Given the description of an element on the screen output the (x, y) to click on. 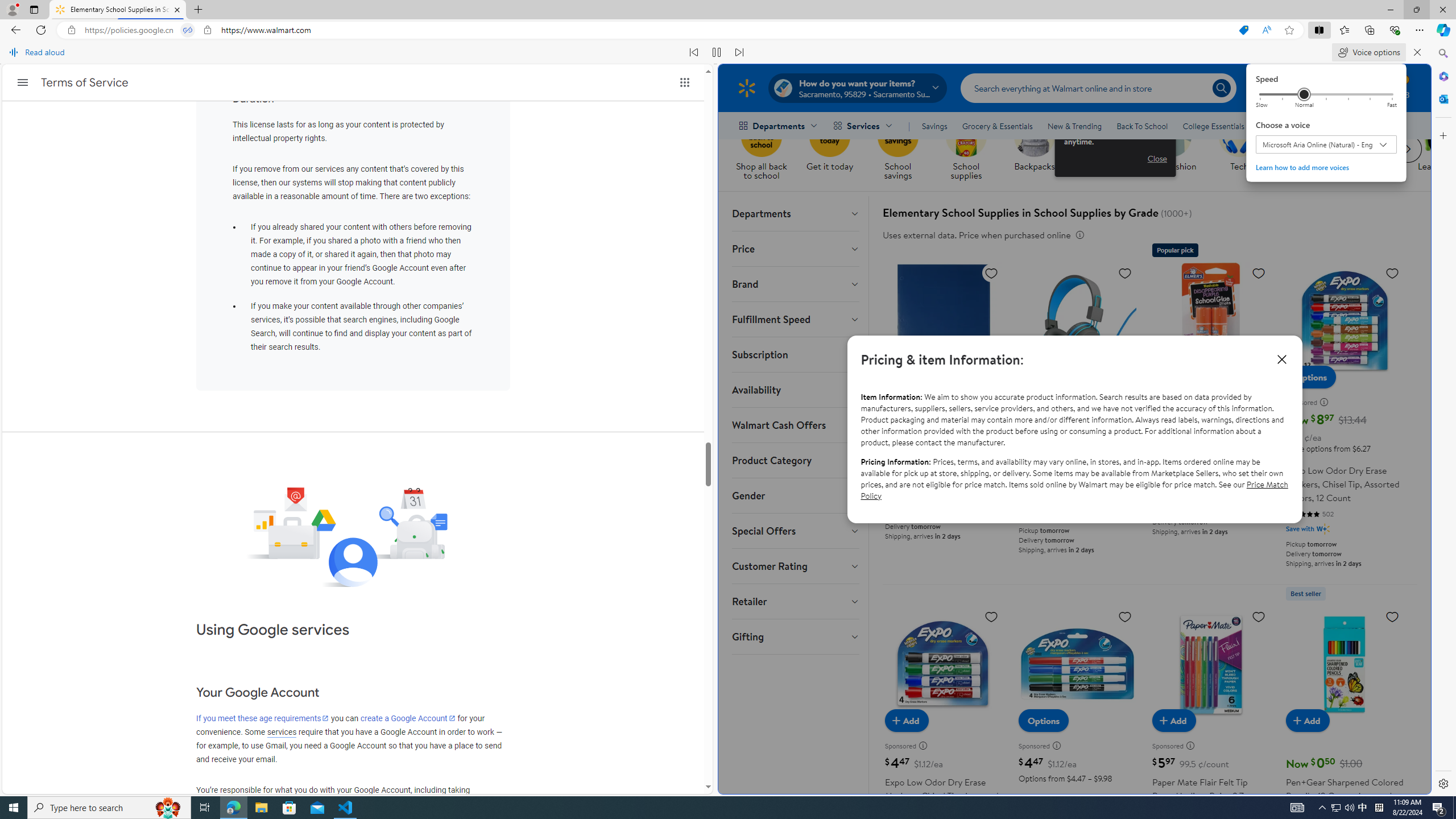
Task View (204, 807)
Tabs in split screen (187, 29)
Read previous paragraph (693, 52)
Q2790: 100% (1349, 807)
Running applications (707, 807)
This site has coupons! Shopping in Microsoft Edge, 7 (1243, 29)
Search highlights icon opens search home window (167, 807)
Price Match Policy (1074, 489)
